Given the description of an element on the screen output the (x, y) to click on. 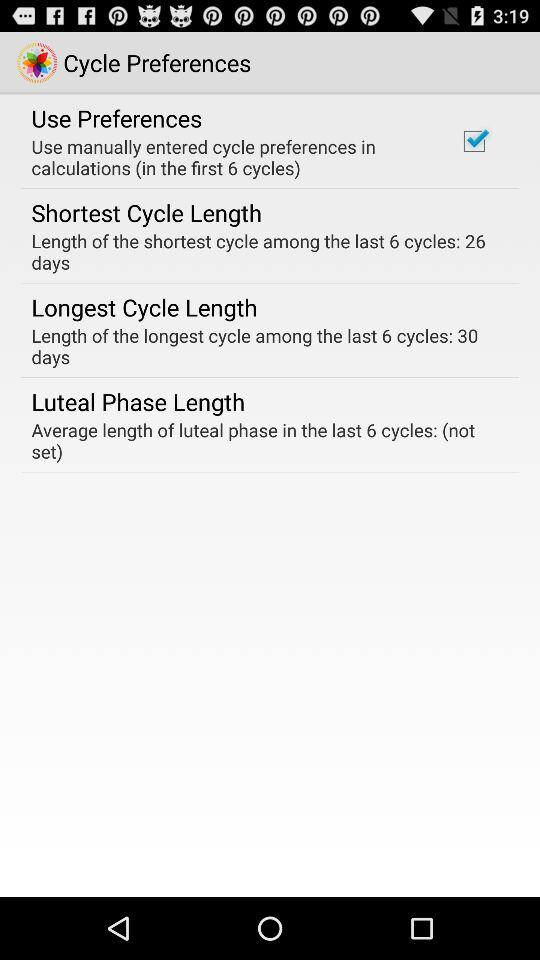
launch the item above the shortest cycle length (231, 157)
